Given the description of an element on the screen output the (x, y) to click on. 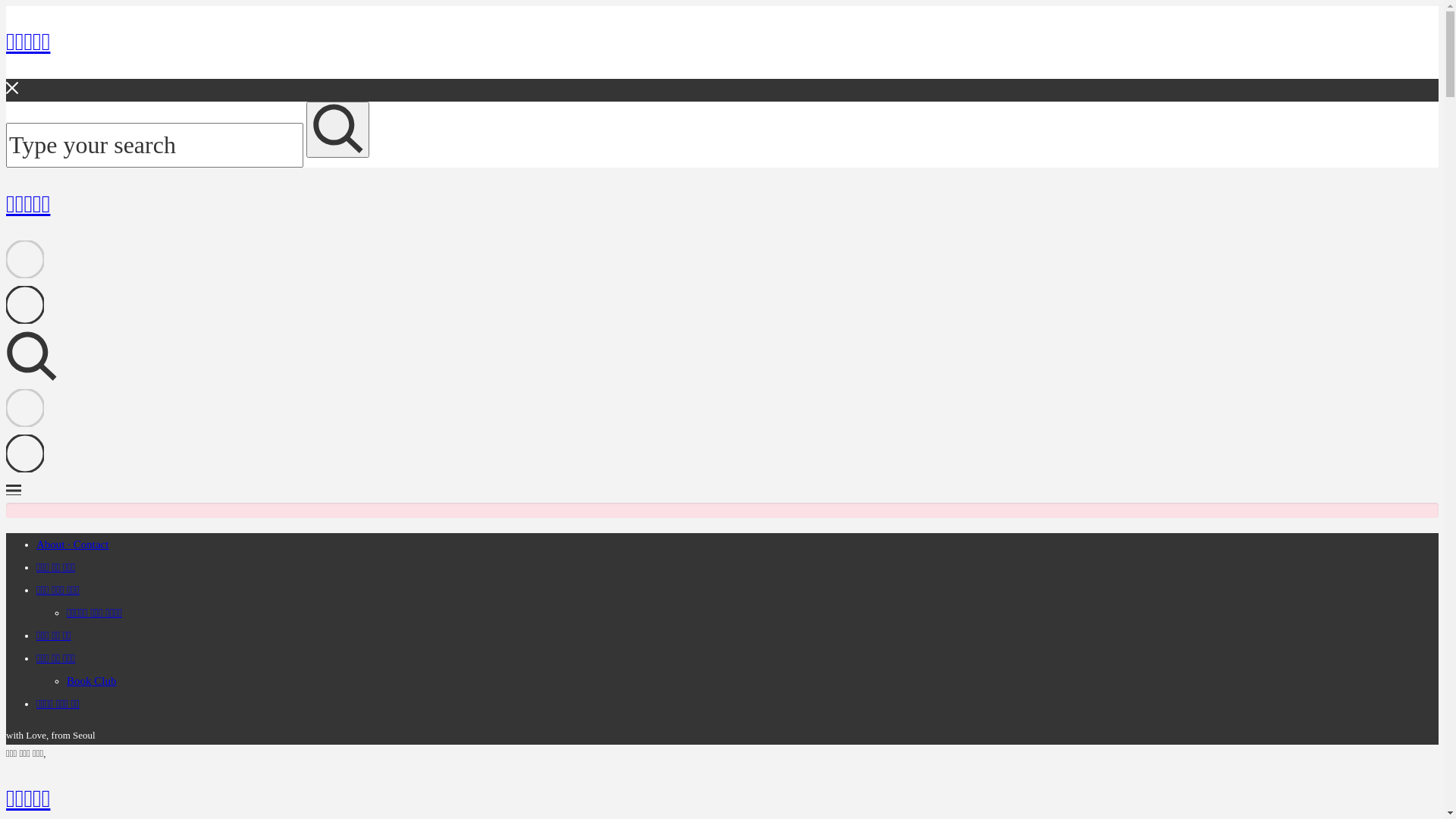
Book Club Element type: text (91, 680)
Type your search Element type: hover (154, 144)
